Given the description of an element on the screen output the (x, y) to click on. 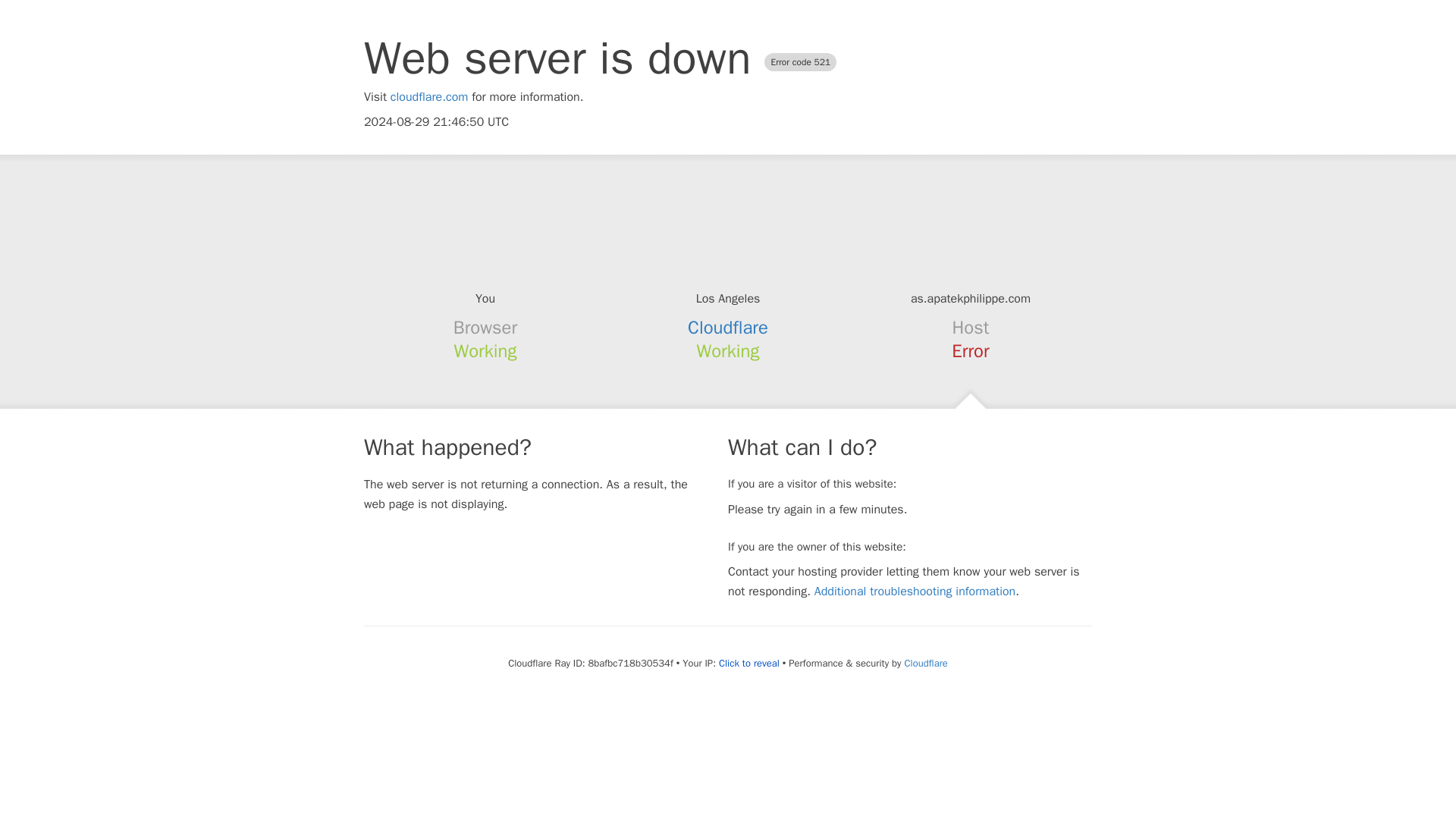
cloudflare.com (429, 96)
Cloudflare (925, 662)
Additional troubleshooting information (913, 590)
Click to reveal (748, 663)
Cloudflare (727, 327)
